Given the description of an element on the screen output the (x, y) to click on. 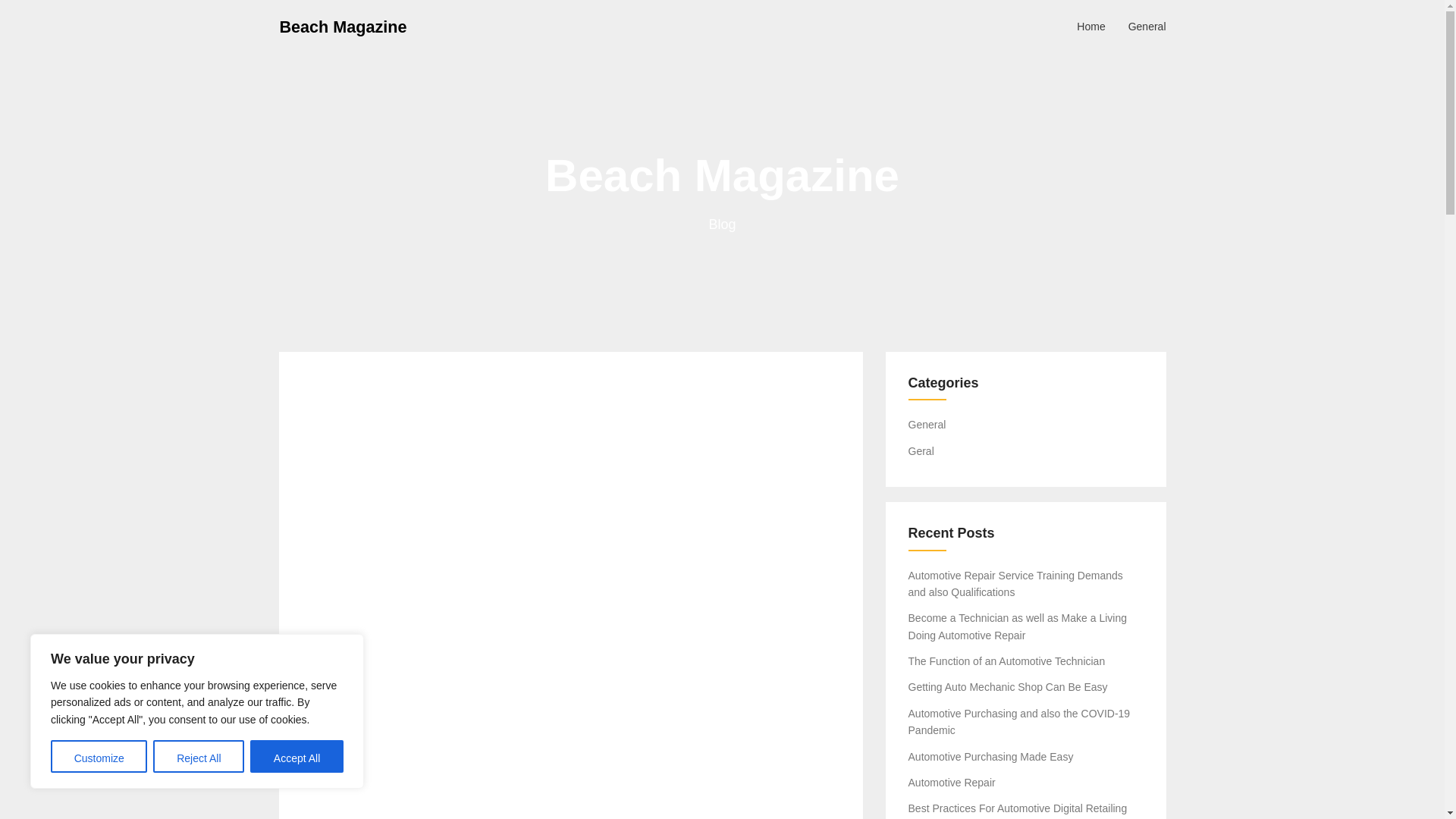
General (1146, 26)
Beach Magazine (342, 26)
Automotive Purchasing Made Easy (991, 756)
Customize (98, 756)
Automotive Repair (951, 782)
Automotive Purchasing and also the COVID-19 Pandemic (1019, 721)
Reject All (198, 756)
Getting Auto Mechanic Shop Can Be Easy (1008, 686)
The Function of an Automotive Technician (1006, 661)
